Given the description of an element on the screen output the (x, y) to click on. 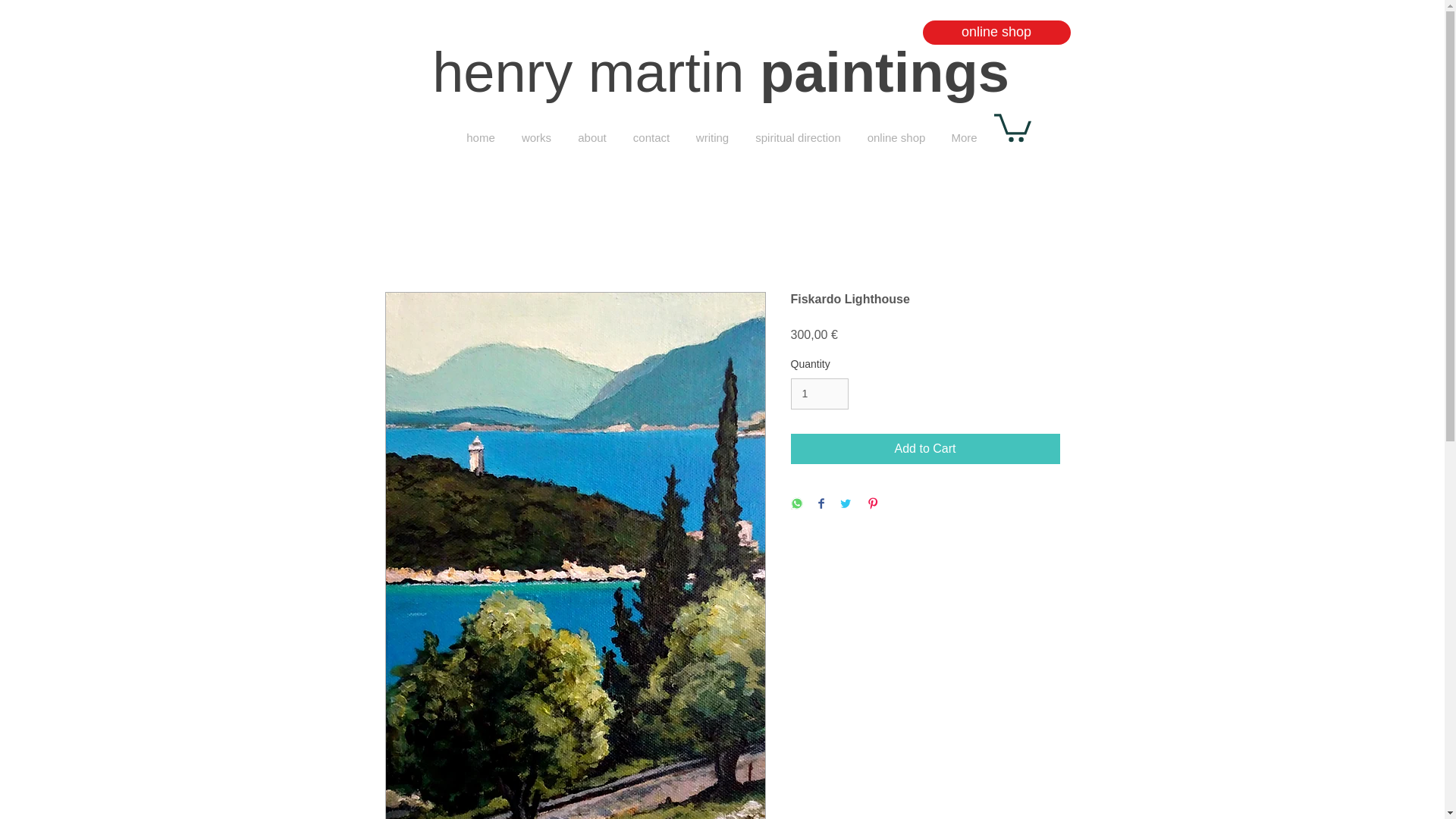
paintings (884, 72)
writing (711, 137)
spiritual direction (797, 137)
works (536, 137)
home (480, 137)
1 (818, 393)
henry martin  (596, 72)
contact (651, 137)
Add to Cart (924, 449)
online shop (895, 137)
